Given the description of an element on the screen output the (x, y) to click on. 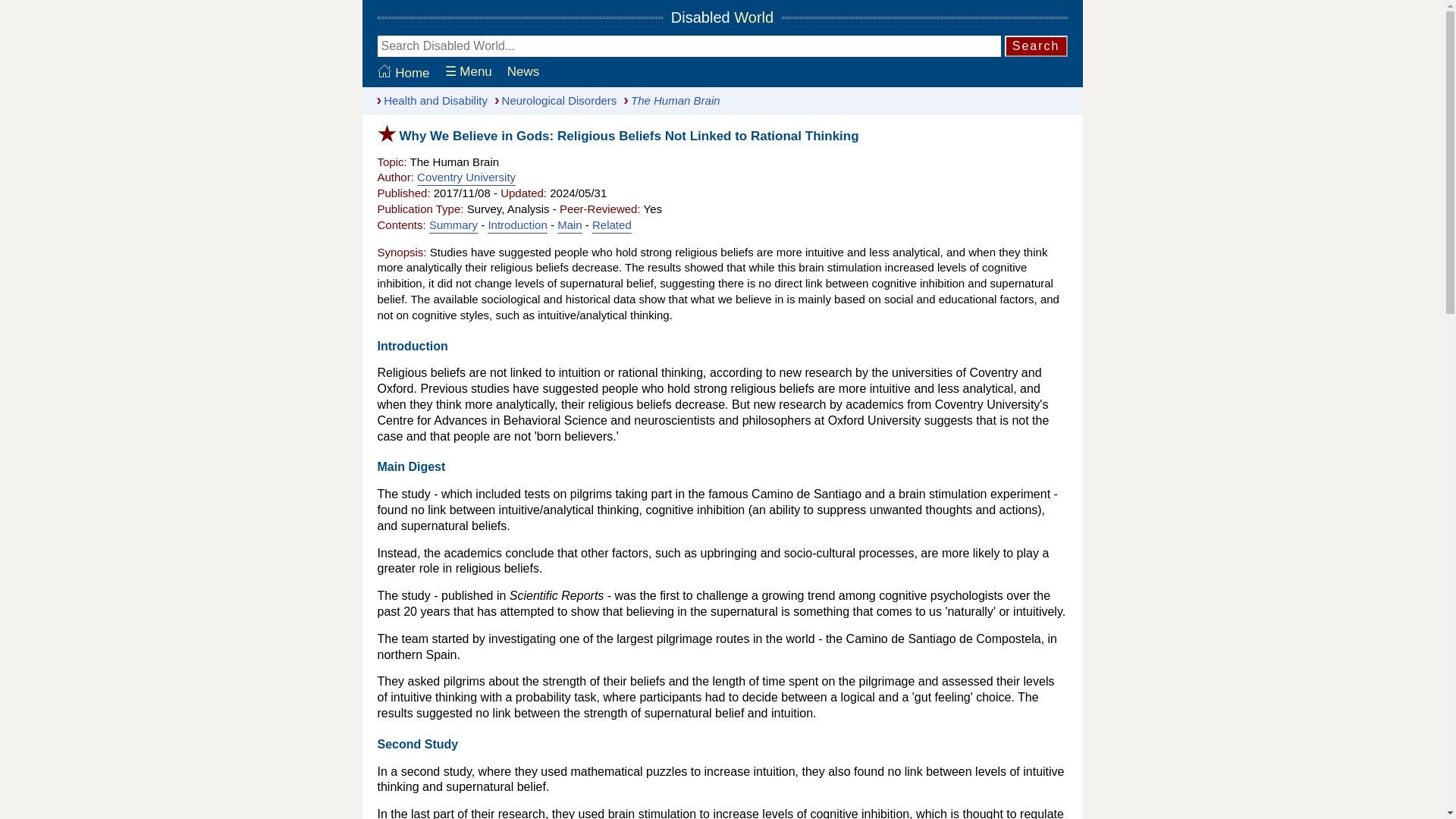
Main (569, 224)
Coventry University (465, 176)
Neurological Disorders (551, 99)
Go to The Human Brain (667, 99)
The Human Brain (667, 99)
Go to Neurological Disorders (551, 99)
Related (611, 224)
News (523, 72)
Introduction (517, 224)
Go to Health and Disability (428, 99)
